Given the description of an element on the screen output the (x, y) to click on. 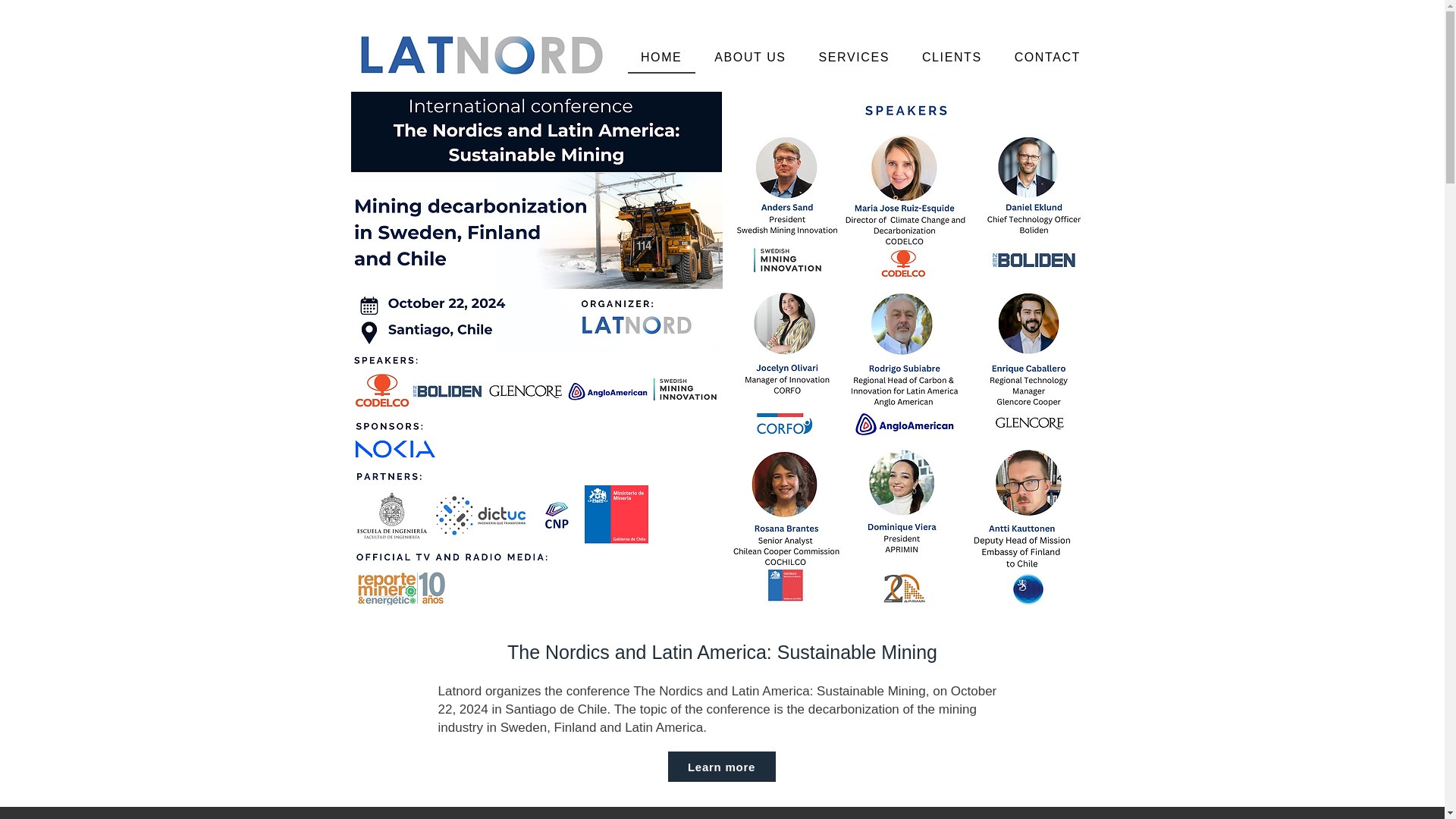
SERVICES (853, 58)
CLIENTS (951, 58)
HOME (661, 58)
CONTACT (1047, 58)
ABOUT US (750, 58)
Learn more (720, 766)
